Given the description of an element on the screen output the (x, y) to click on. 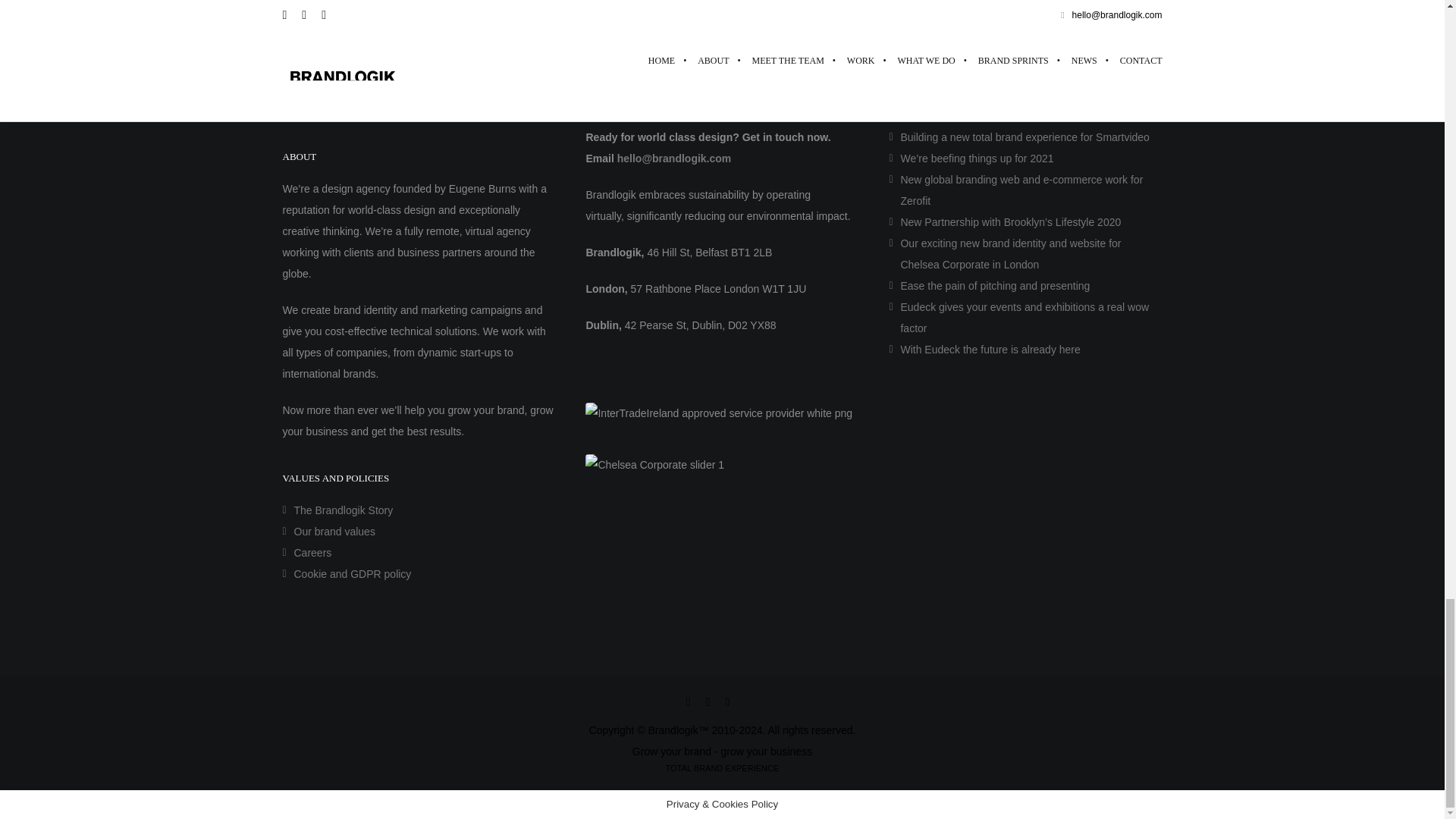
Cookie and GDPR policy (353, 573)
Our brand values (334, 531)
Ease the pain of pitching and presenting (994, 285)
New global branding web and e-commerce work for Zerofit (1020, 190)
Careers (312, 552)
Building a new total brand experience for Smartvideo (1023, 137)
The Brandlogik Story (343, 510)
